Given the description of an element on the screen output the (x, y) to click on. 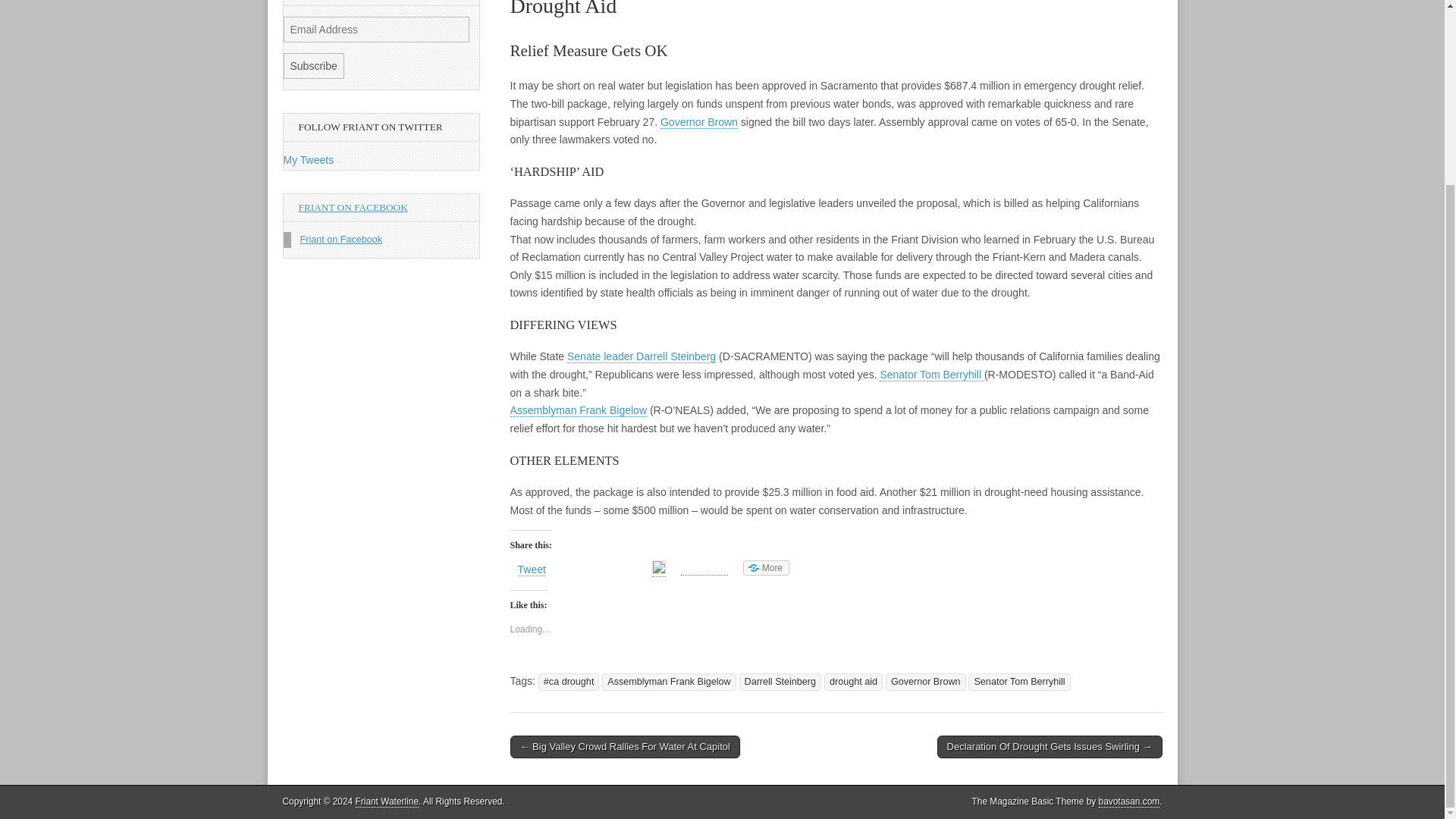
drought aid (853, 682)
Governor Brown (925, 682)
bavotasan.com (1129, 801)
Governor Brown (699, 122)
Assemblyman Frank Bigelow (577, 410)
Subscribe (313, 65)
Share on Tumblr (704, 567)
Assemblyman Frank Bigelow (577, 410)
Assemblyman Frank Bigelow (668, 682)
Senate leader Darrell Steinberg (641, 356)
